Given the description of an element on the screen output the (x, y) to click on. 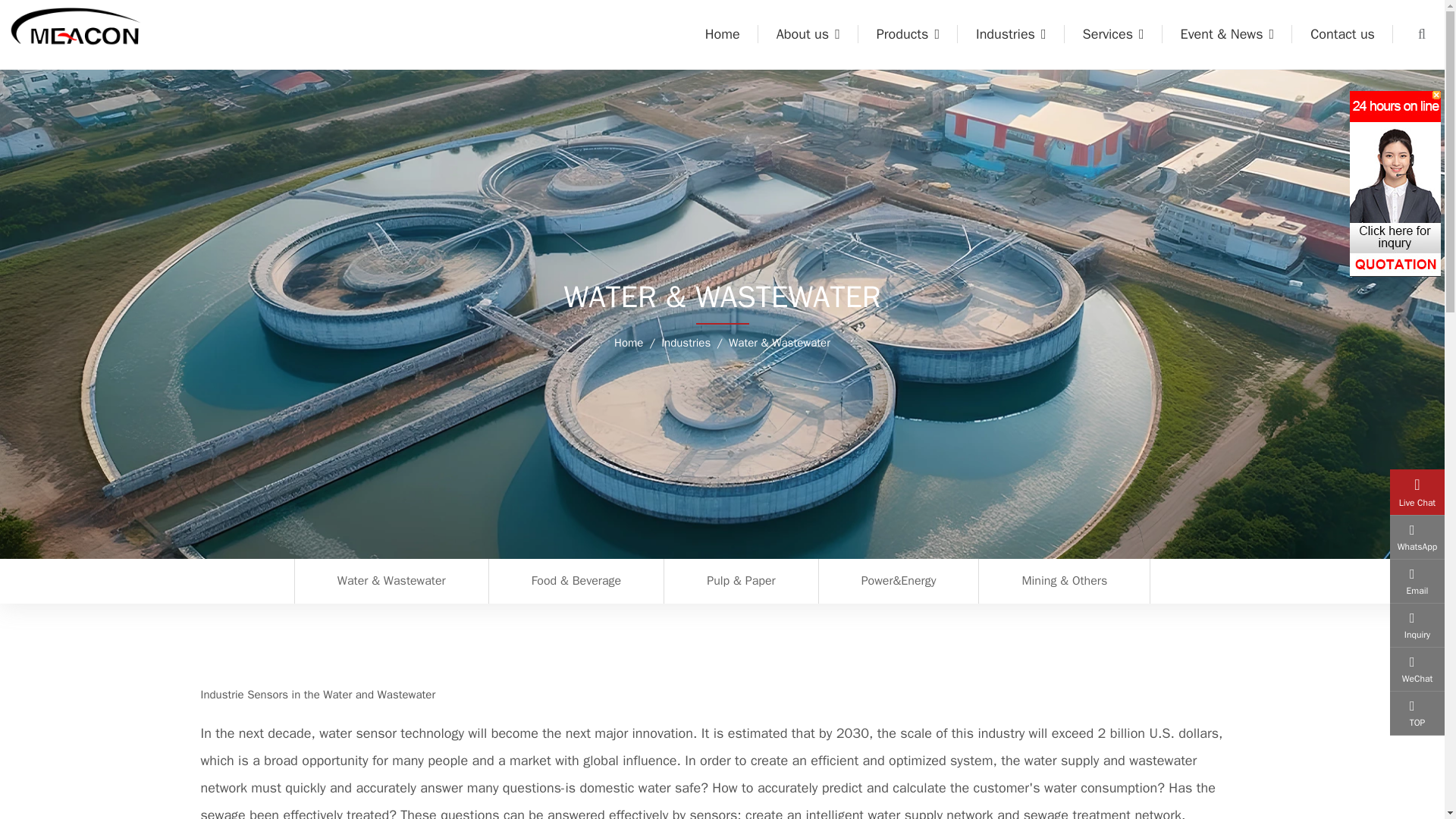
Products (908, 34)
About us (808, 34)
Home (722, 34)
